Given the description of an element on the screen output the (x, y) to click on. 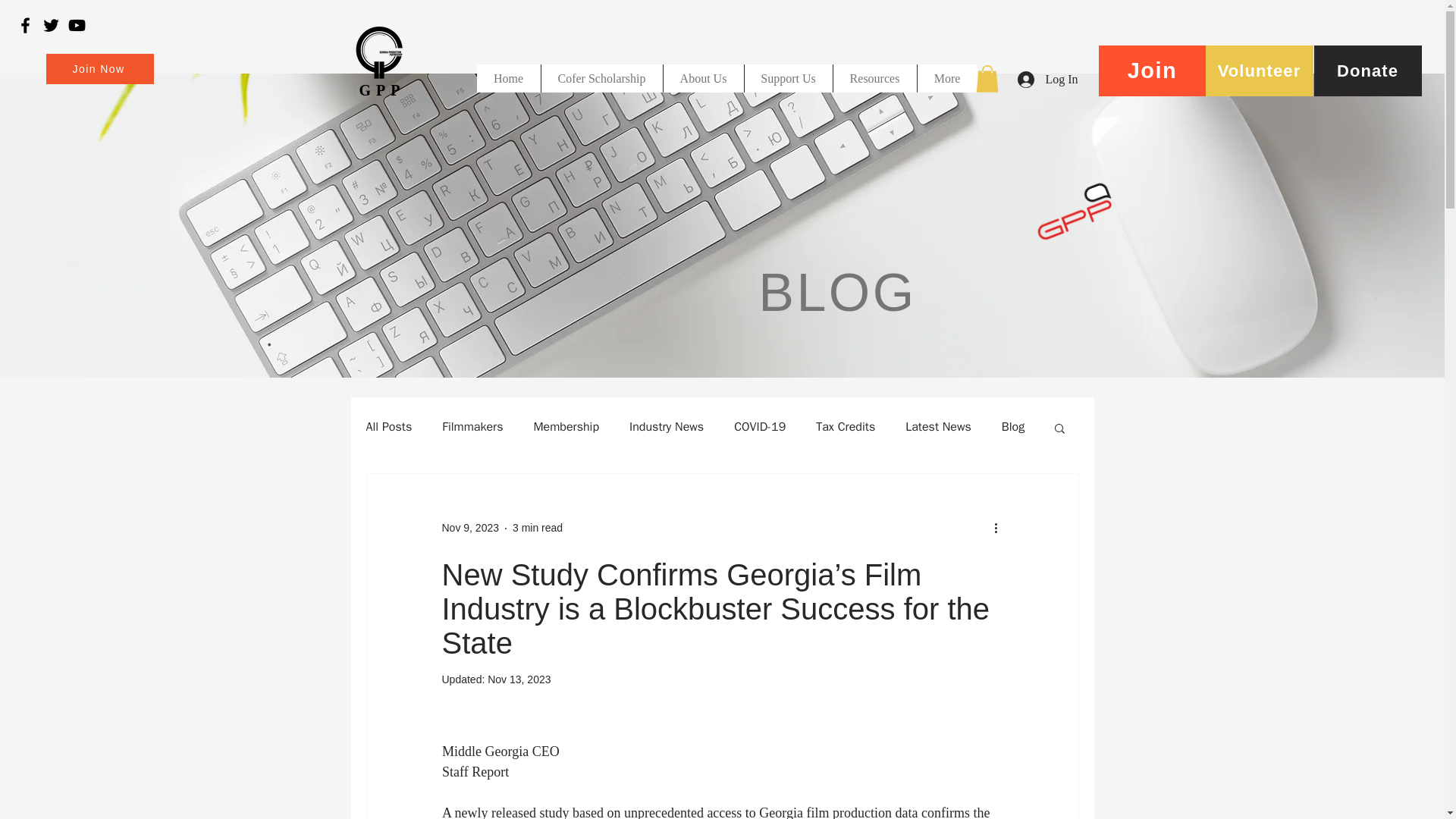
Filmmakers (472, 426)
Blog (1013, 426)
GPP (382, 89)
All Posts (388, 426)
Nov 13, 2023 (518, 679)
About Us (703, 78)
Log In (1047, 79)
Cofer Scholarship (601, 78)
Join (1151, 70)
Latest News (938, 426)
